Given the description of an element on the screen output the (x, y) to click on. 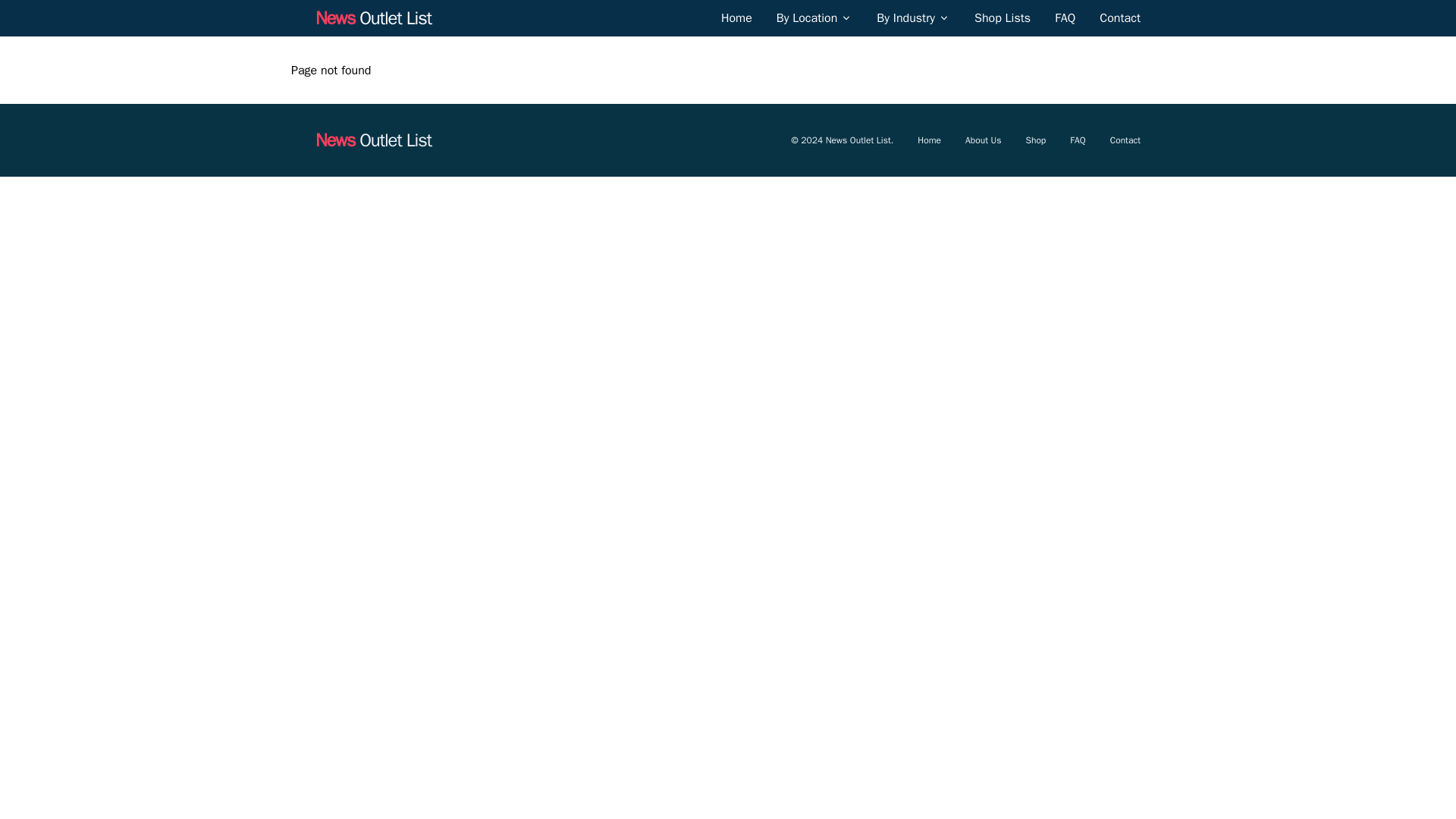
Shop Lists (1002, 18)
Contact (1119, 18)
By Location (814, 18)
By Industry (913, 18)
Home (736, 18)
By Location (807, 18)
FAQ (1064, 18)
By Industry (905, 18)
News Outlet List (372, 17)
